Given the description of an element on the screen output the (x, y) to click on. 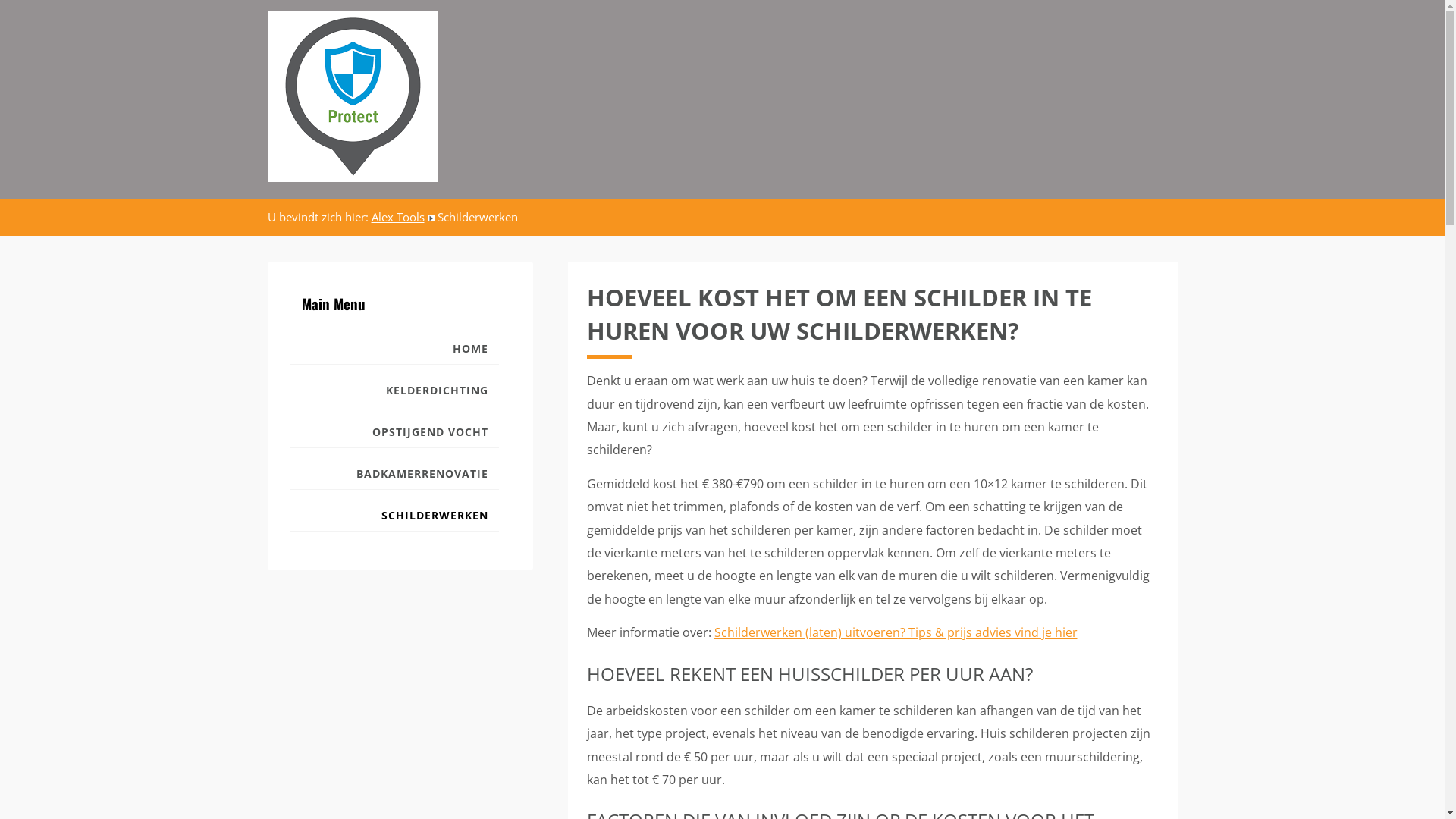
alextools.be - vochtbestrijding Element type: hover (361, 96)
alextools.be - vochtbestrijding Element type: hover (351, 96)
HOME Element type: text (393, 348)
Alex Tools Element type: text (397, 216)
SCHILDERWERKEN Element type: text (393, 515)
BADKAMERRENOVATIE Element type: text (393, 473)
OPSTIJGEND VOCHT Element type: text (393, 432)
KELDERDICHTING Element type: text (393, 390)
